Given the description of an element on the screen output the (x, y) to click on. 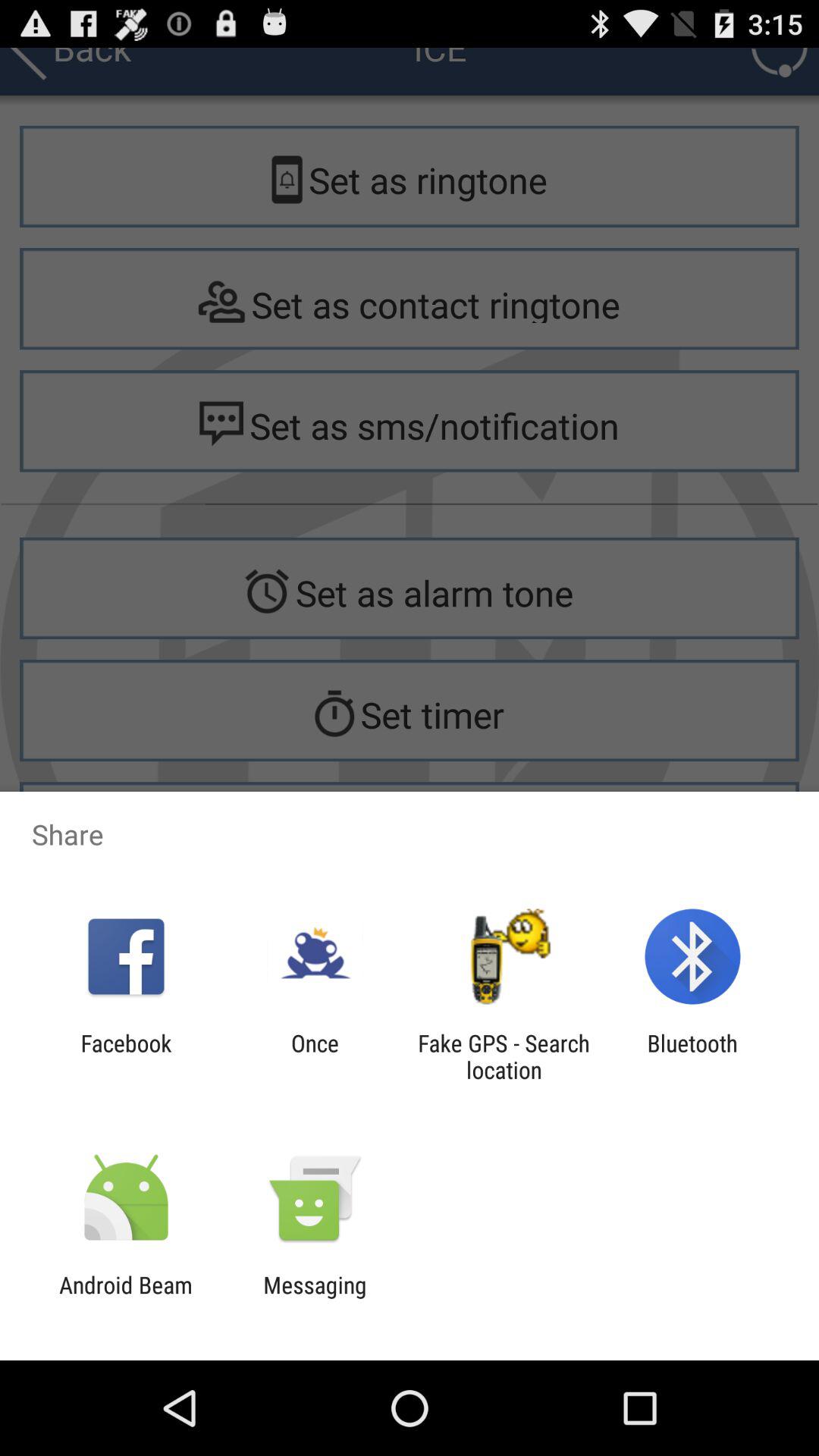
turn on fake gps search icon (503, 1056)
